Given the description of an element on the screen output the (x, y) to click on. 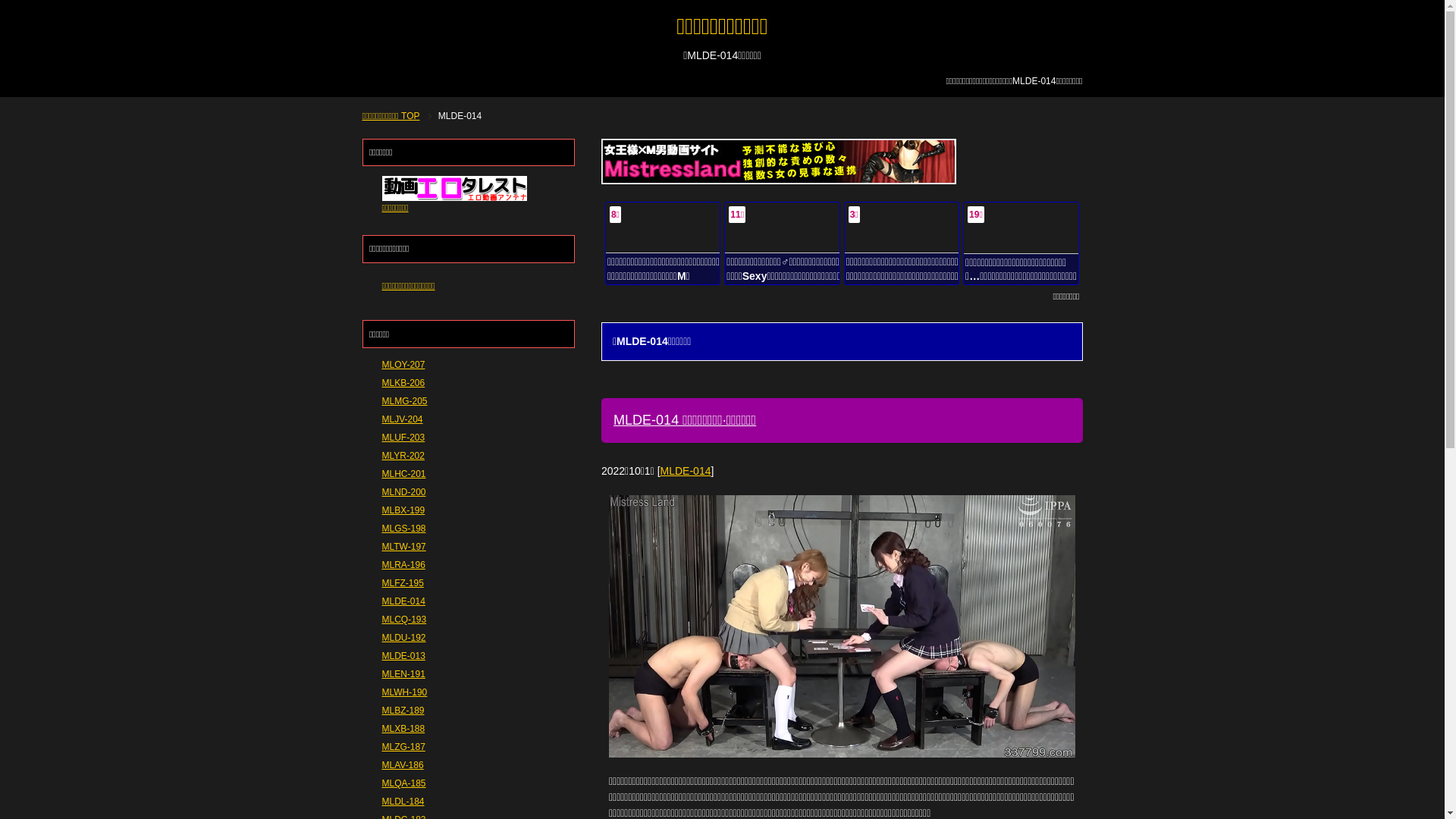
MLCQ-193 Element type: text (404, 619)
MLDE-013 Element type: text (403, 655)
MLZG-187 Element type: text (403, 746)
MLHC-201 Element type: text (404, 473)
MLWH-190 Element type: text (404, 692)
MLAV-186 Element type: text (402, 764)
MLRA-196 Element type: text (403, 564)
MLQA-185 Element type: text (404, 783)
MLTW-197 Element type: text (404, 546)
MLGS-198 Element type: text (404, 528)
MLEN-191 Element type: text (403, 673)
MLND-200 Element type: text (404, 491)
MLXB-188 Element type: text (403, 728)
MLOY-207 Element type: text (403, 364)
MLDE-014 Element type: text (403, 601)
MLDU-192 Element type: text (404, 637)
MLKB-206 Element type: text (403, 382)
MLDE-014 Element type: text (685, 470)
MLBX-199 Element type: text (403, 510)
MLFZ-195 Element type: text (402, 582)
MLJV-204 Element type: text (402, 419)
MLYR-202 Element type: text (403, 455)
MLUF-203 Element type: text (403, 437)
MLBZ-189 Element type: text (403, 710)
MLMG-205 Element type: text (404, 400)
MLDL-184 Element type: text (403, 801)
